Given the description of an element on the screen output the (x, y) to click on. 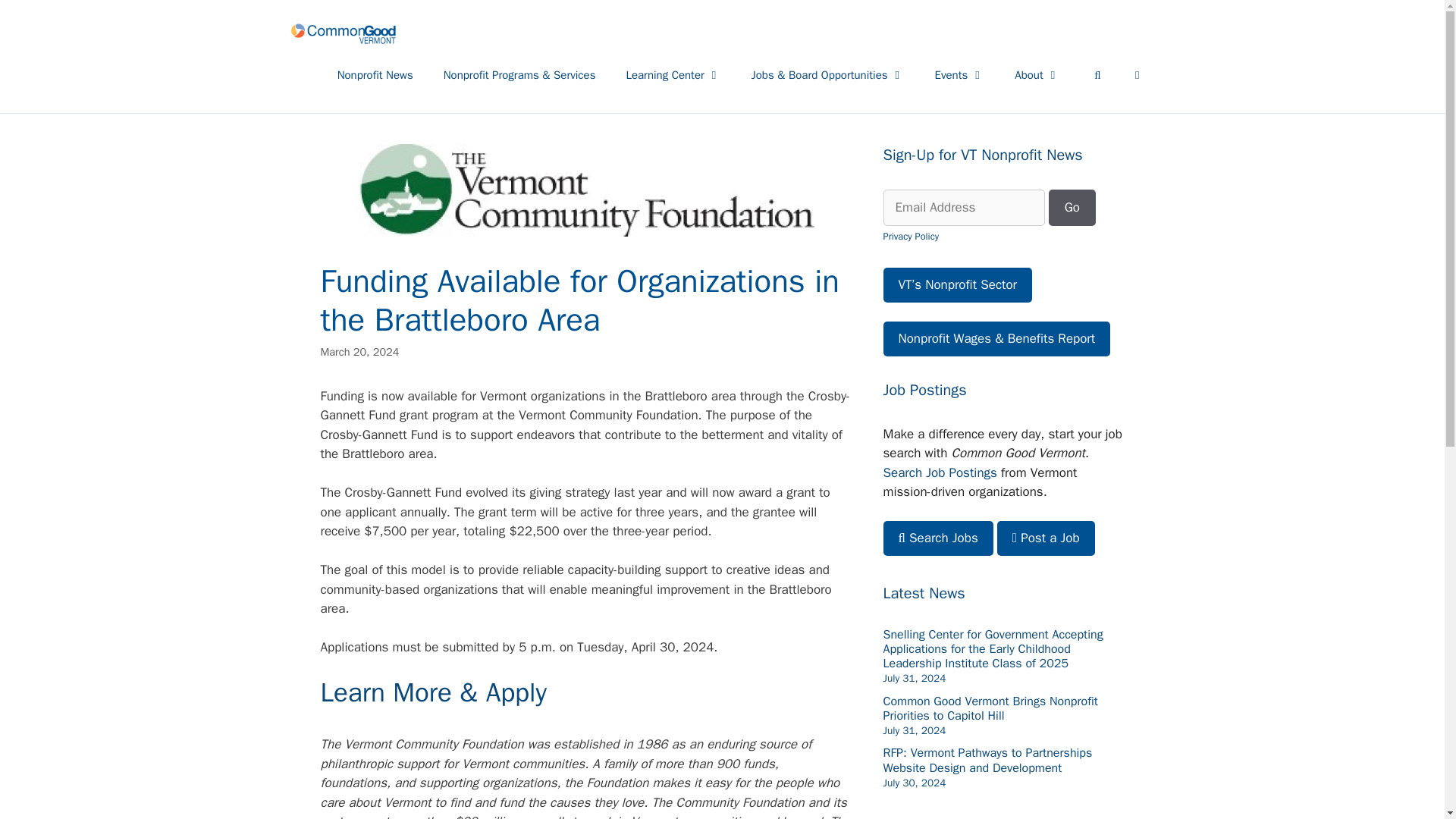
Common Good Vermont (342, 32)
11:02 am (913, 782)
9:24 am (913, 730)
10:29 am (913, 677)
Common Good Vermont (342, 33)
Learning Center (672, 74)
About (1036, 74)
Nonprofit News (374, 74)
Events (960, 74)
